Given the description of an element on the screen output the (x, y) to click on. 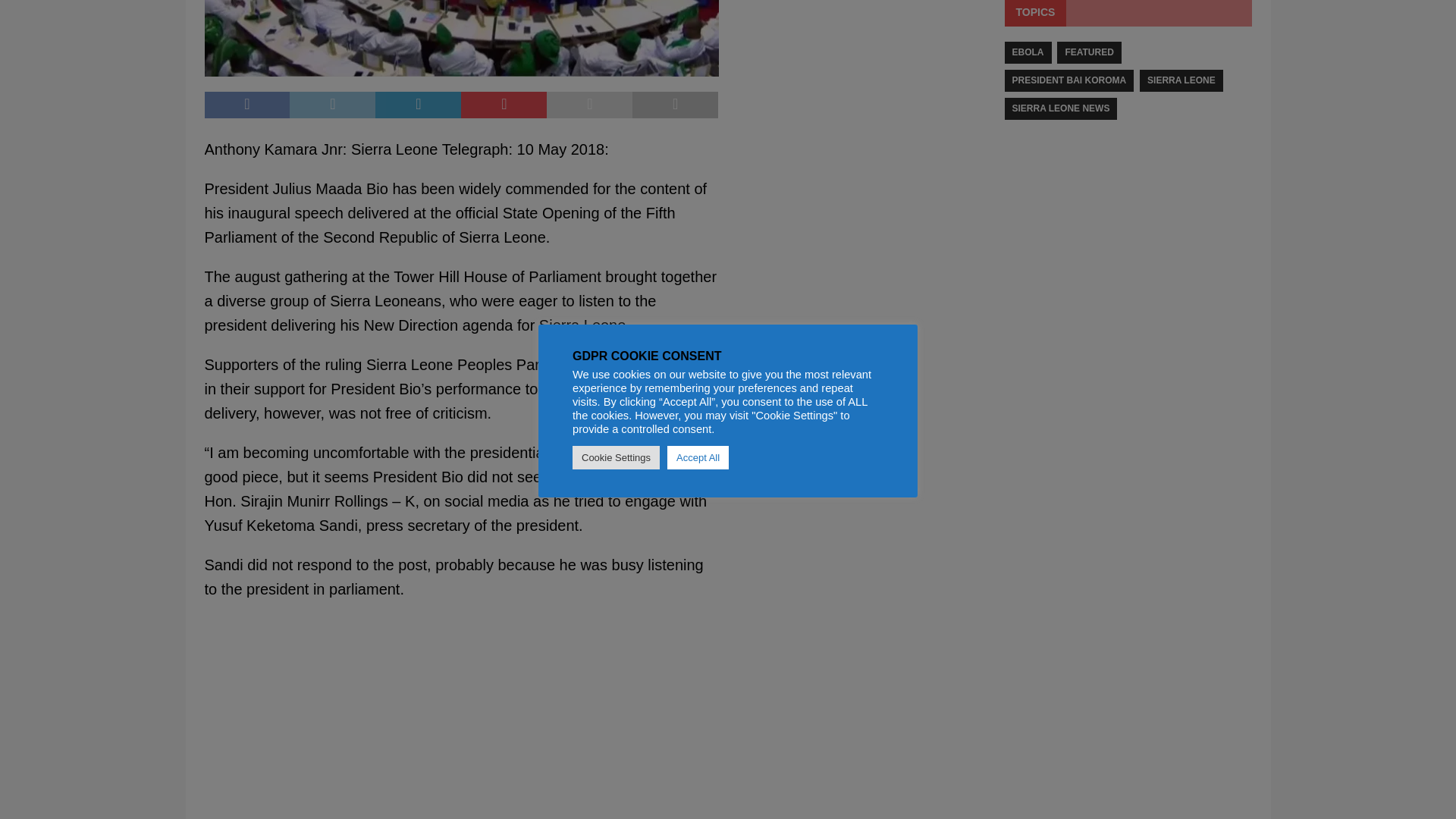
official opening of parliament 2018 111 (462, 38)
